Given the description of an element on the screen output the (x, y) to click on. 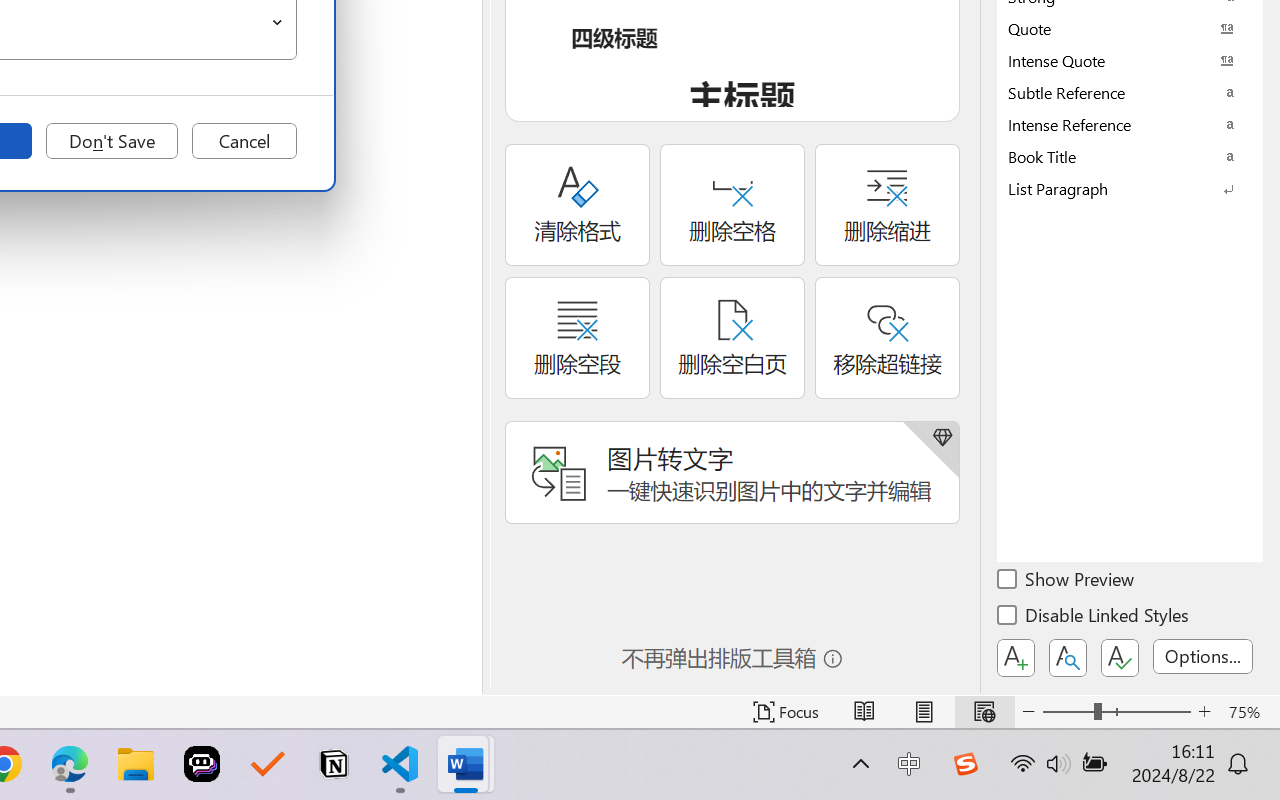
Show Preview (1067, 582)
Poe (201, 764)
Intense Quote (1130, 60)
Zoom In (1204, 712)
Class: NetUIImage (1116, 188)
Book Title (1130, 156)
List Paragraph (1130, 188)
